Given the description of an element on the screen output the (x, y) to click on. 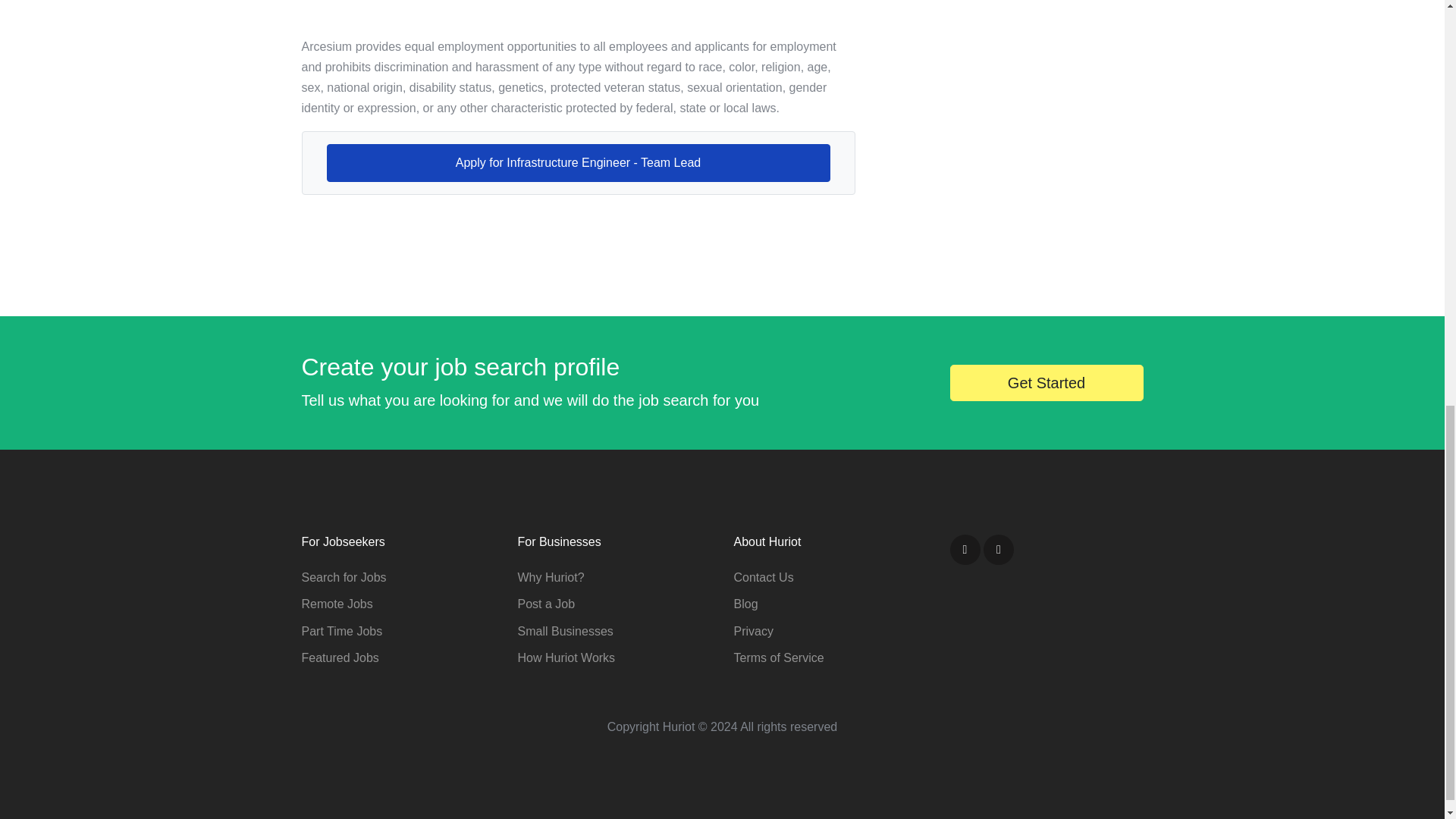
Apply for Infrastructure Engineer - Team Lead (577, 162)
Contact Us (763, 576)
Get Started (1045, 382)
Blog (745, 603)
Remote Jobs (336, 603)
Why Huriot? (549, 576)
Post a Job (545, 603)
Search for Jobs (344, 576)
Featured Jobs (339, 657)
How Huriot Works (565, 657)
Part Time Jobs (341, 631)
Privacy (753, 631)
Terms of Service (778, 657)
Small Businesses (564, 631)
